Given the description of an element on the screen output the (x, y) to click on. 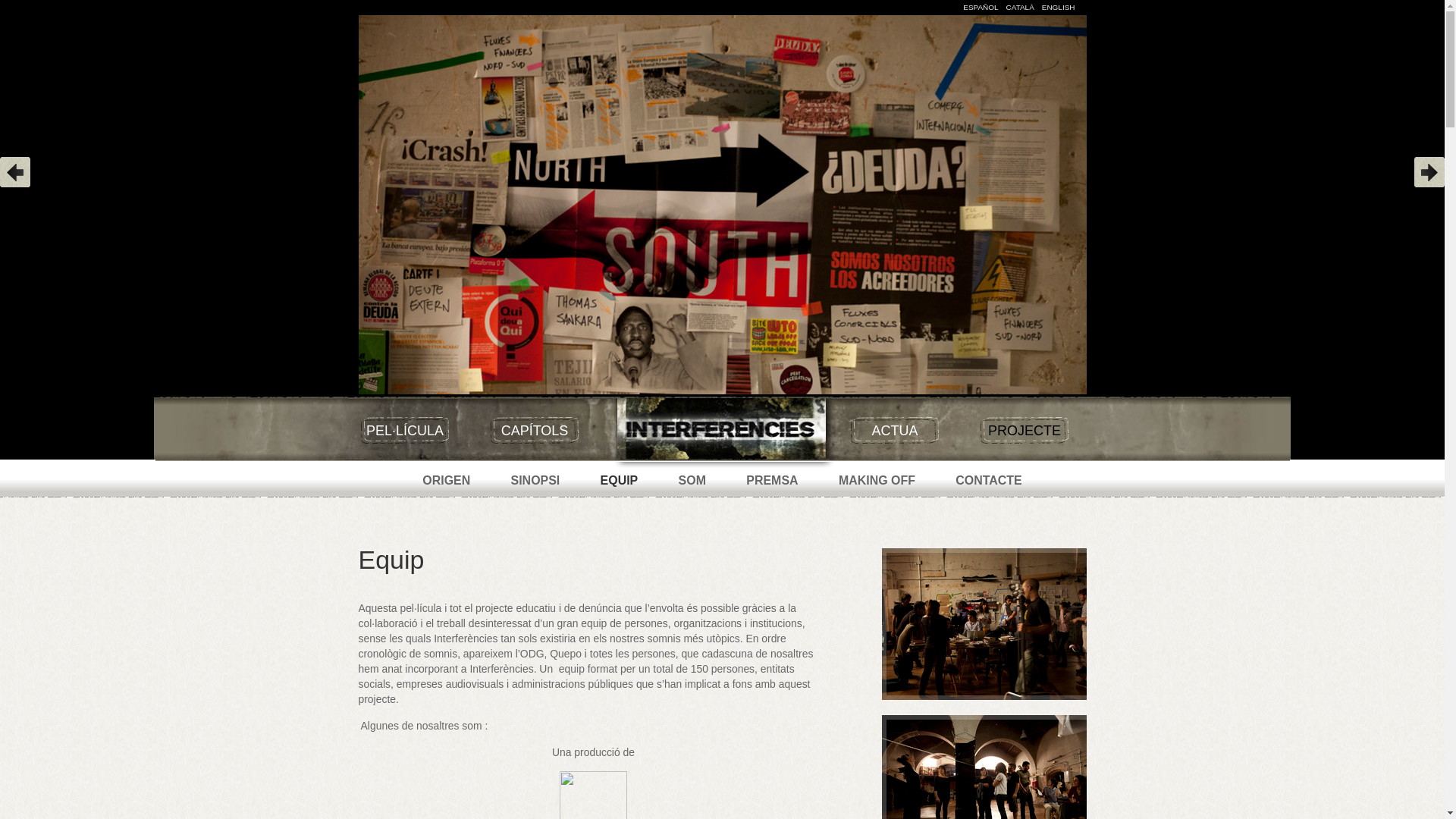
INICI Element type: text (721, 426)
PROJECTE Element type: text (1024, 430)
ORIGEN Element type: text (446, 479)
CONTACTE Element type: text (988, 479)
EQUIP Element type: text (619, 479)
PREMSA Element type: text (771, 479)
SOM Element type: text (692, 479)
MAKING OFF Element type: text (876, 479)
ACTUA Element type: text (893, 430)
SINOPSI Element type: text (535, 479)
